Given the description of an element on the screen output the (x, y) to click on. 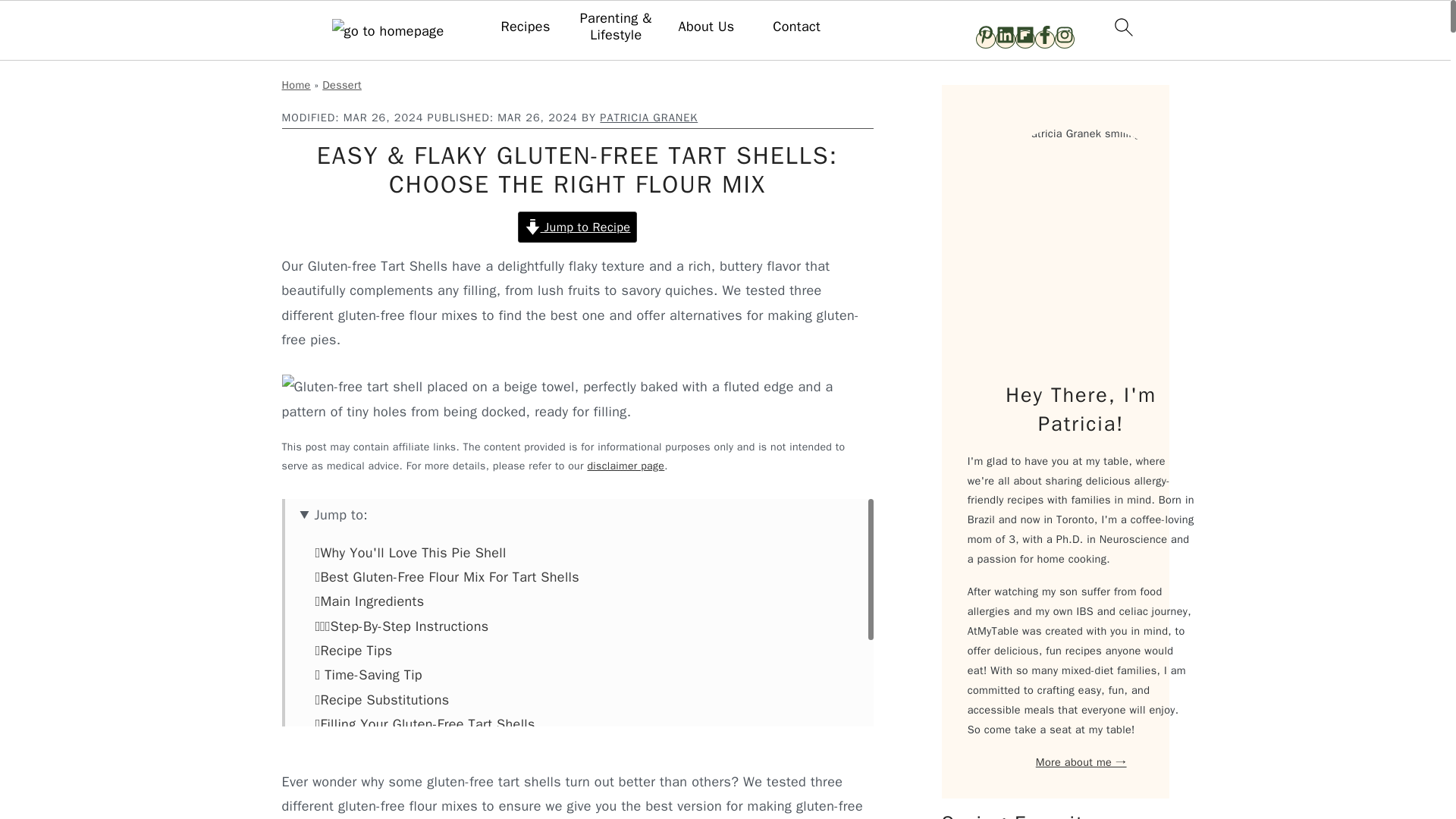
Contact (797, 27)
PATRICIA GRANEK (648, 117)
Recipes (525, 27)
Dessert (341, 84)
search icon (1122, 26)
About Us (705, 27)
Home (296, 84)
Jump to Recipe (577, 226)
disclaimer page (624, 465)
